Given the description of an element on the screen output the (x, y) to click on. 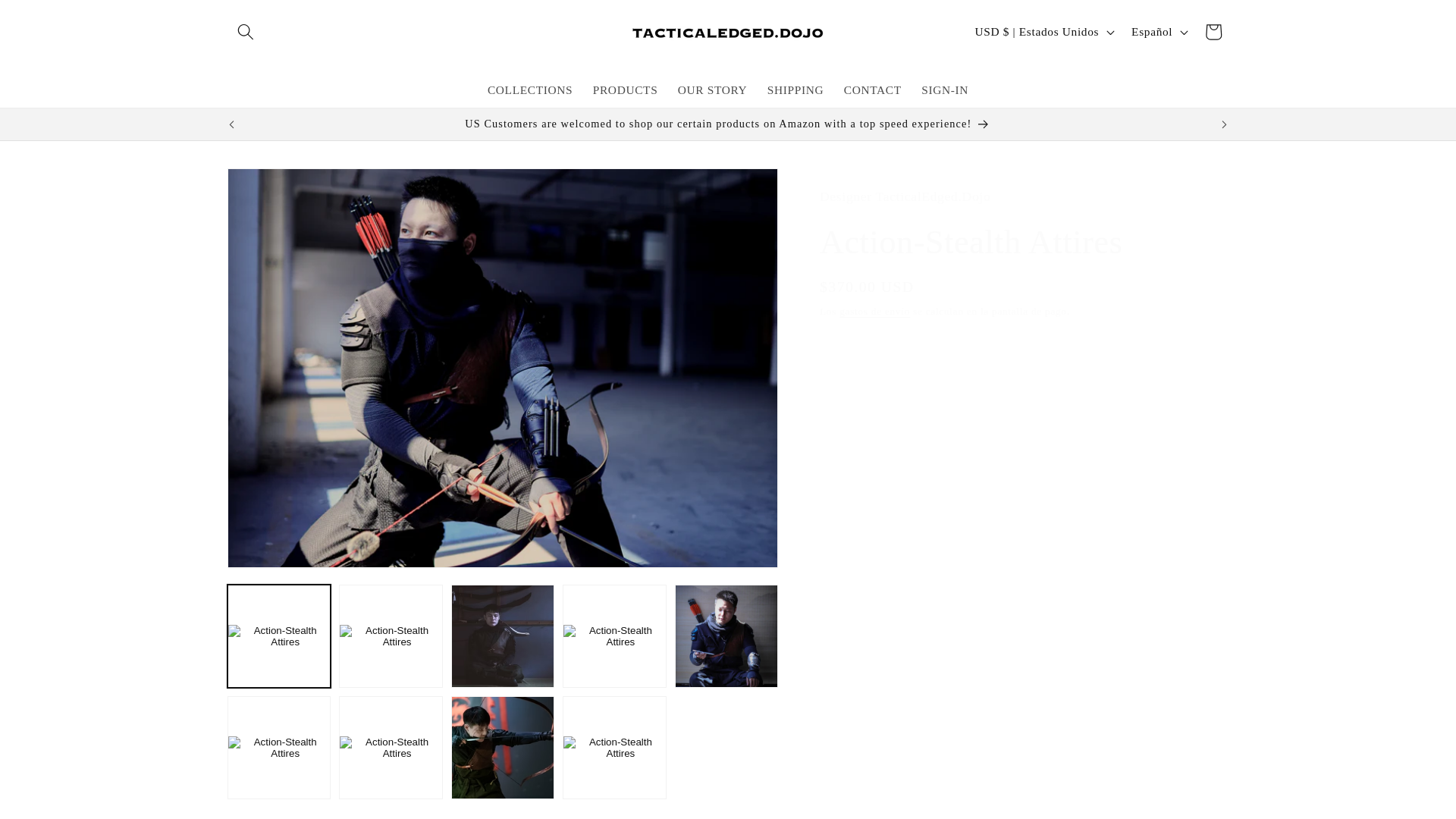
SHIPPING (795, 89)
COLLECTIONS (530, 89)
SIGN-IN (944, 89)
Carrito (1213, 31)
PRODUCTS (625, 89)
OUR STORY (712, 89)
CONTACT (872, 89)
Ir directamente al contenido (51, 20)
